Given the description of an element on the screen output the (x, y) to click on. 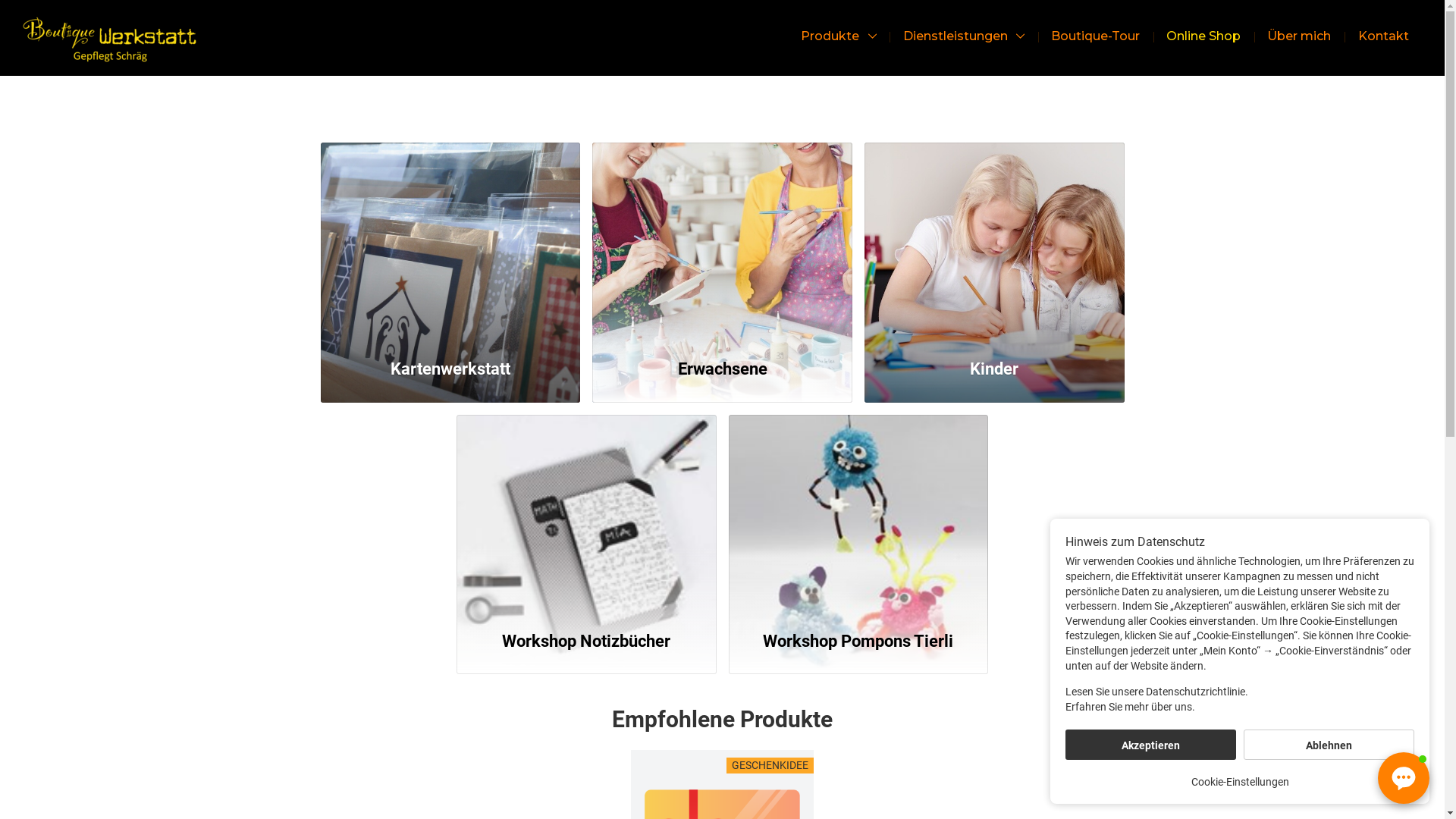
Kinder Element type: text (994, 371)
Cookie-Einstellungen Element type: text (1239, 781)
Erwachsene Element type: text (722, 371)
Workshop Pompons Tierli Element type: hover (858, 514)
Akzeptieren Element type: text (1150, 744)
Erwachsene Element type: hover (722, 242)
Online Shop Element type: text (1203, 36)
Kinder Element type: hover (994, 242)
Produkte Element type: text (838, 36)
Ablehnen Element type: text (1328, 744)
Kontakt Element type: text (1383, 36)
Lesen Sie unsere Datenschutzrichtlinie. Element type: text (1239, 691)
Kartenwerkstatt Element type: hover (450, 242)
Workshop Pompons Tierli Element type: text (858, 644)
Kartenwerkstatt Element type: text (450, 371)
Boutique-Tour Element type: text (1095, 36)
Dienstleistungen Element type: text (963, 36)
